Given the description of an element on the screen output the (x, y) to click on. 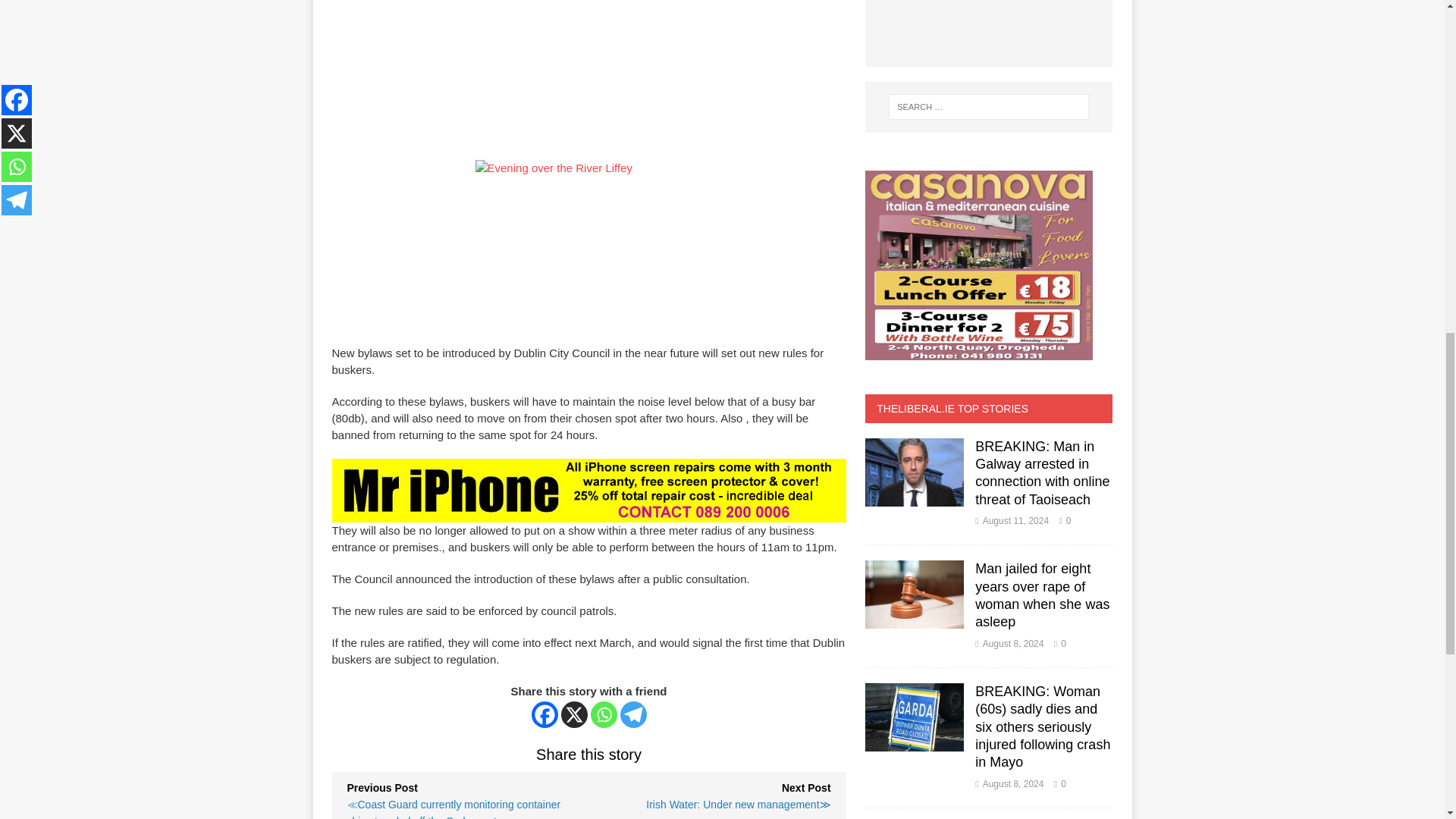
Advertisement (453, 52)
Facebook (544, 714)
X (574, 714)
Telegram (633, 714)
Whatsapp (604, 714)
